Given the description of an element on the screen output the (x, y) to click on. 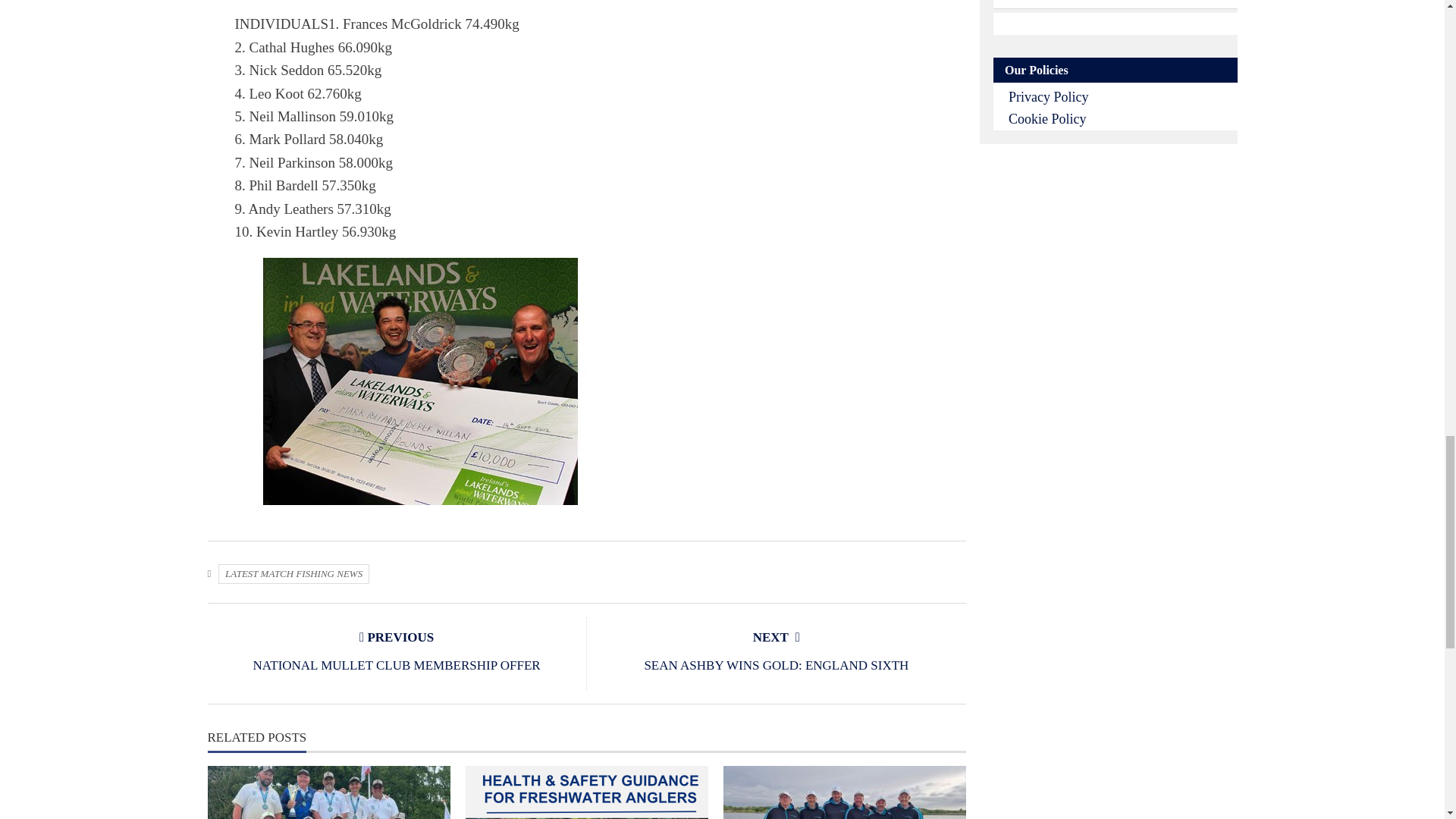
Cookie Policy (1047, 118)
Privacy Policy (1049, 96)
